Given the description of an element on the screen output the (x, y) to click on. 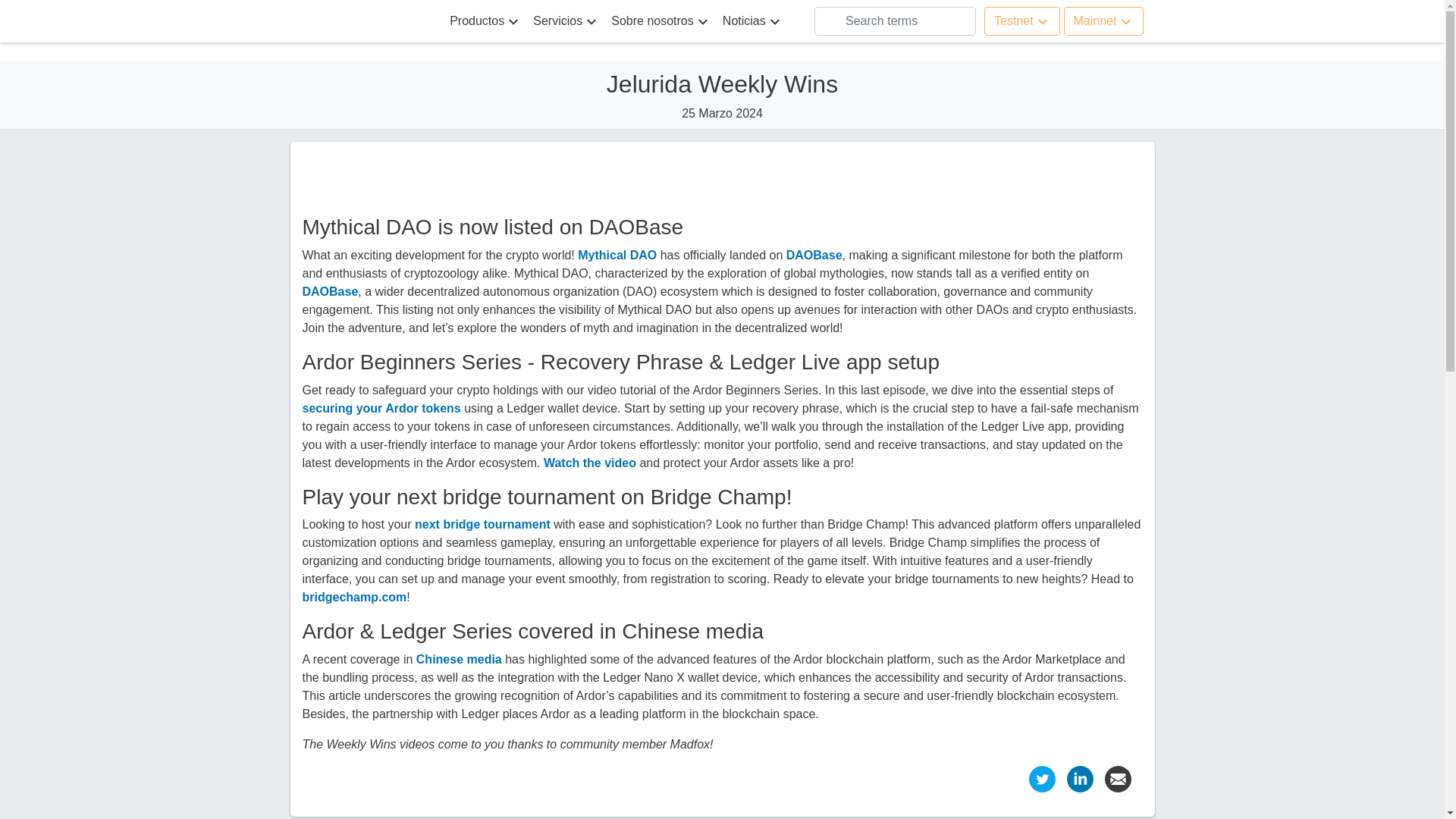
Testnet (1021, 21)
bridgechamp.com (353, 596)
DAOBase (814, 254)
next bridge tournament (482, 523)
Servicios que ofrece Jelurida (566, 20)
Mythical DAO (617, 254)
Mainnet (1102, 21)
Chinese media (459, 658)
securing your Ardor tokens (380, 408)
Inicio (357, 20)
Learn more about Jelurida products or download installers (485, 20)
Jelurida (357, 20)
DAOBase (329, 291)
Buscar (850, 21)
Pasar al contenido principal (74, 8)
